Given the description of an element on the screen output the (x, y) to click on. 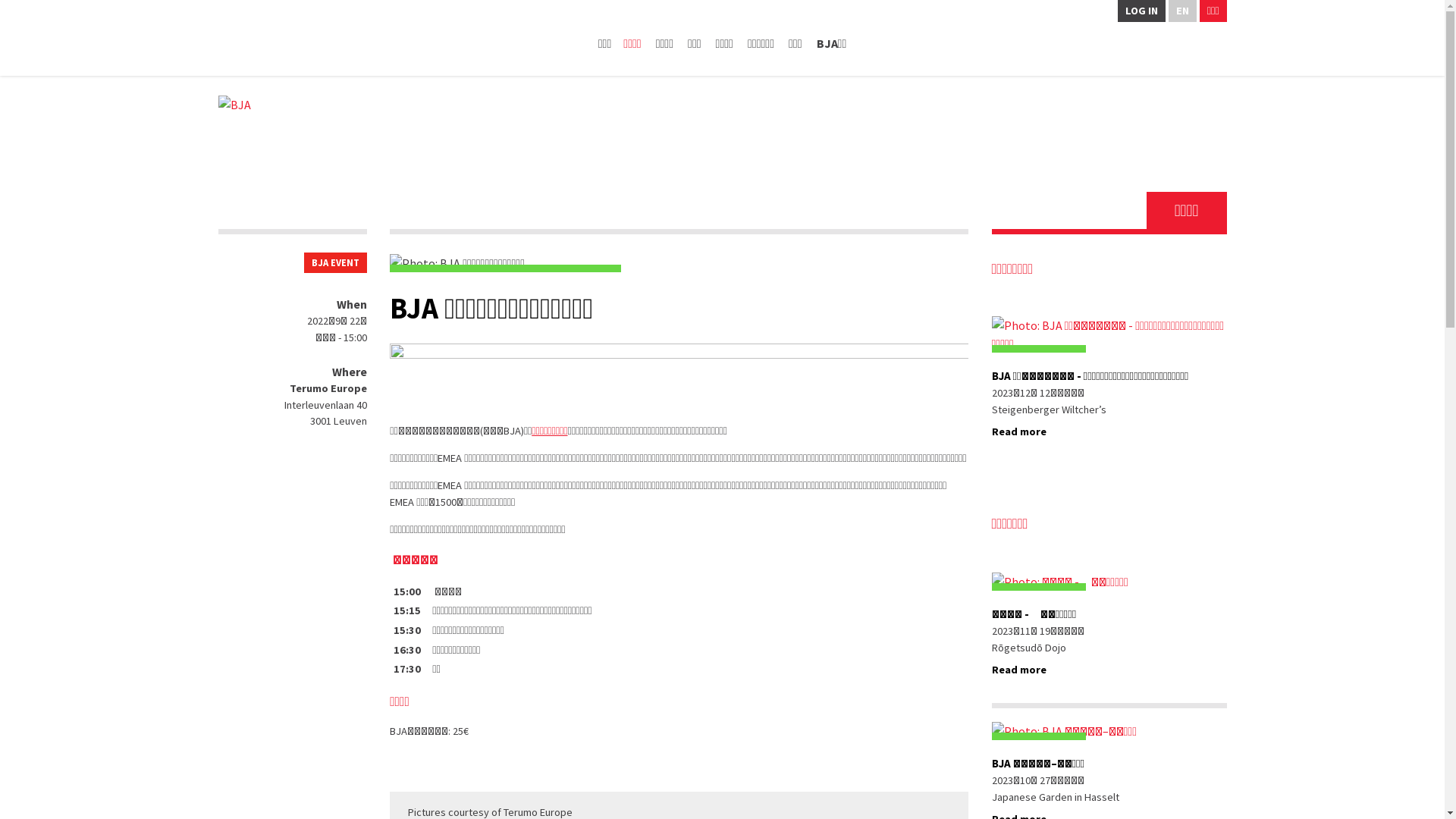
Read more Element type: text (1018, 669)
EN Element type: text (1182, 10)
Read more Element type: text (1018, 431)
LOG IN Element type: text (1141, 10)
BJA EVENT Element type: text (335, 262)
